Given the description of an element on the screen output the (x, y) to click on. 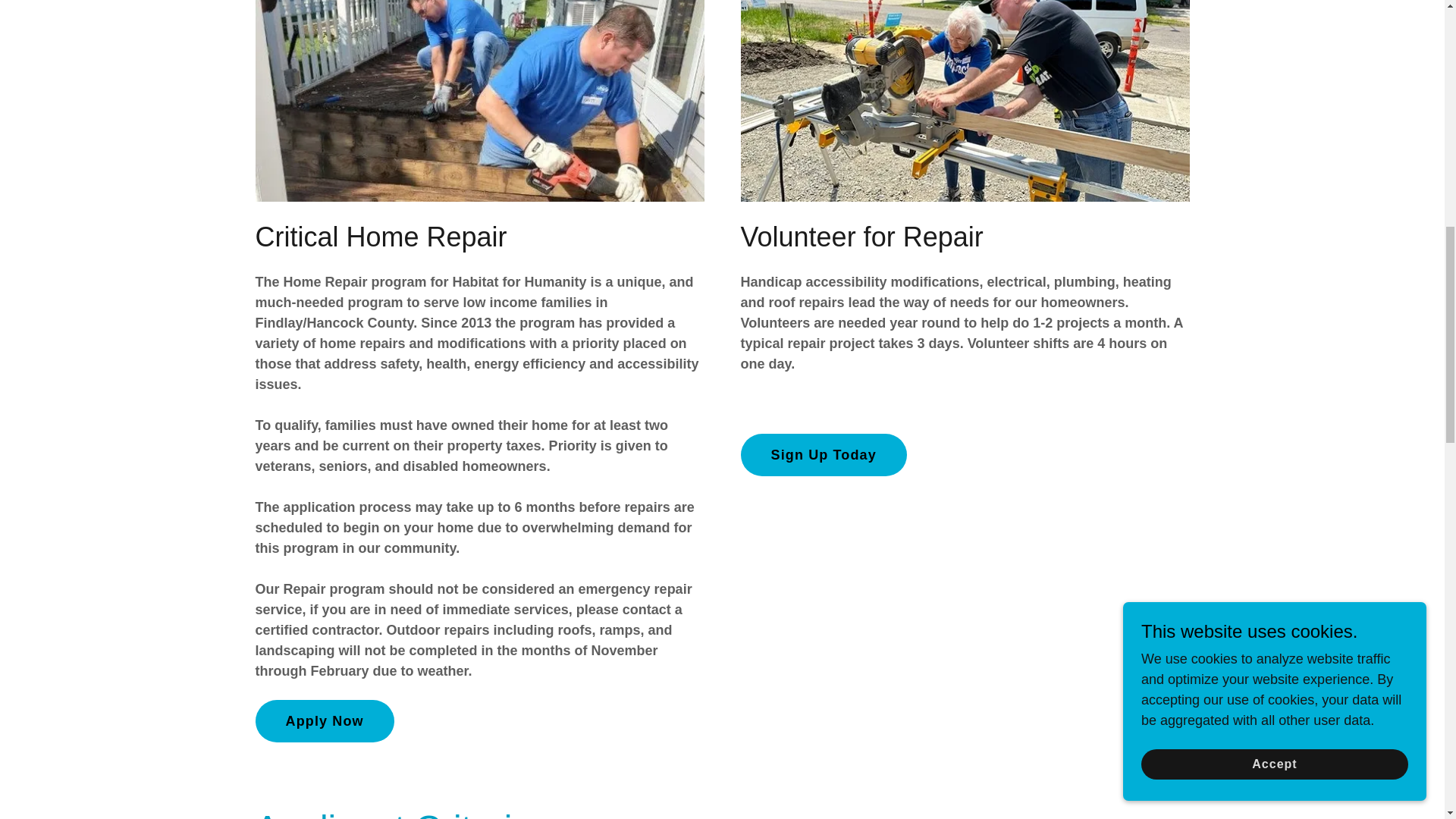
Apply Now (323, 721)
Sign Up Today (822, 454)
